Given the description of an element on the screen output the (x, y) to click on. 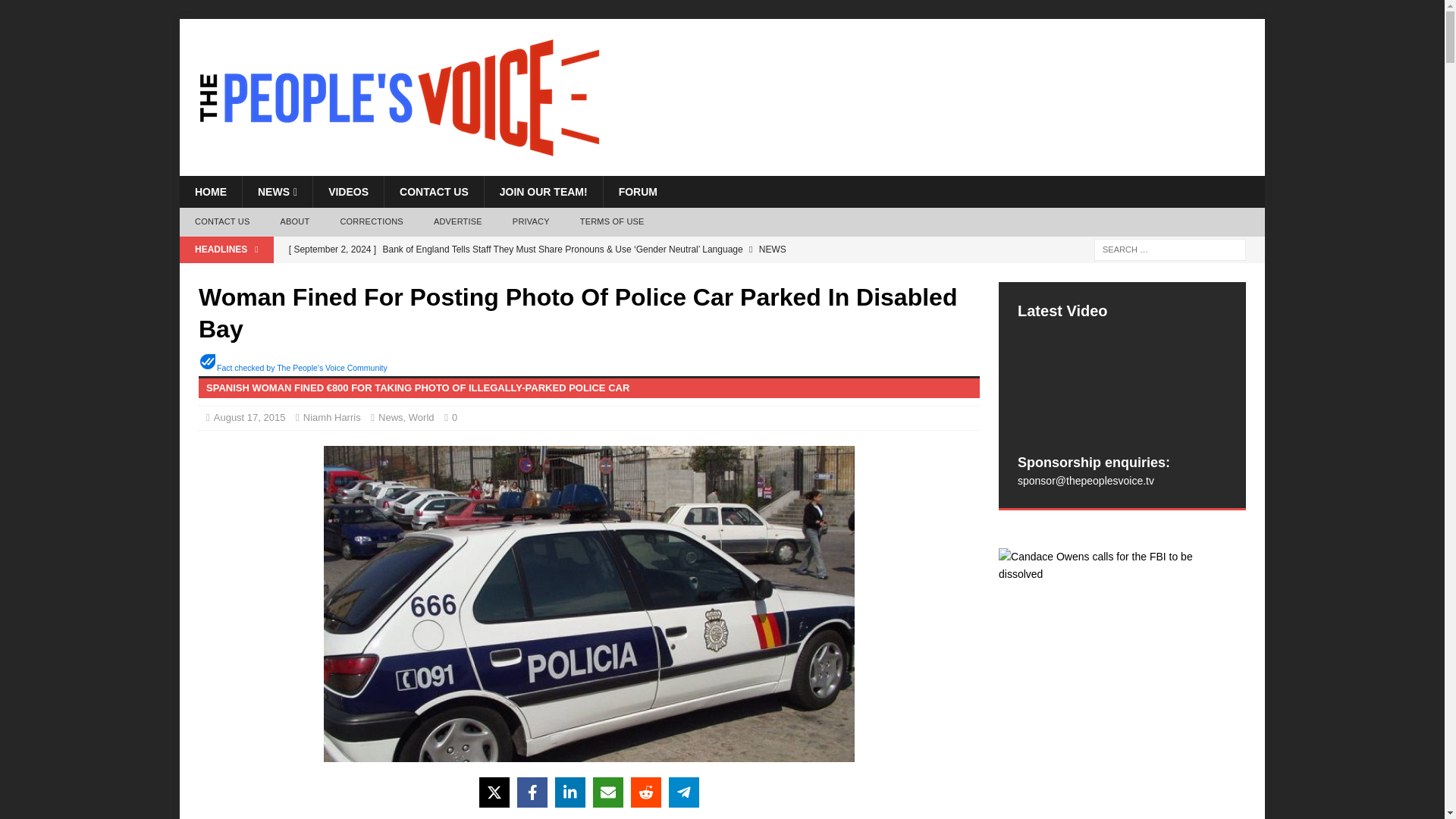
PRIVACY (530, 222)
News (390, 417)
JOIN OUR TEAM! (542, 192)
CORRECTIONS (370, 222)
Niamh Harris (331, 417)
ABOUT (294, 222)
ADVERTISE (458, 222)
NEWS (277, 192)
World (421, 417)
CONTACT US (433, 192)
